Given the description of an element on the screen output the (x, y) to click on. 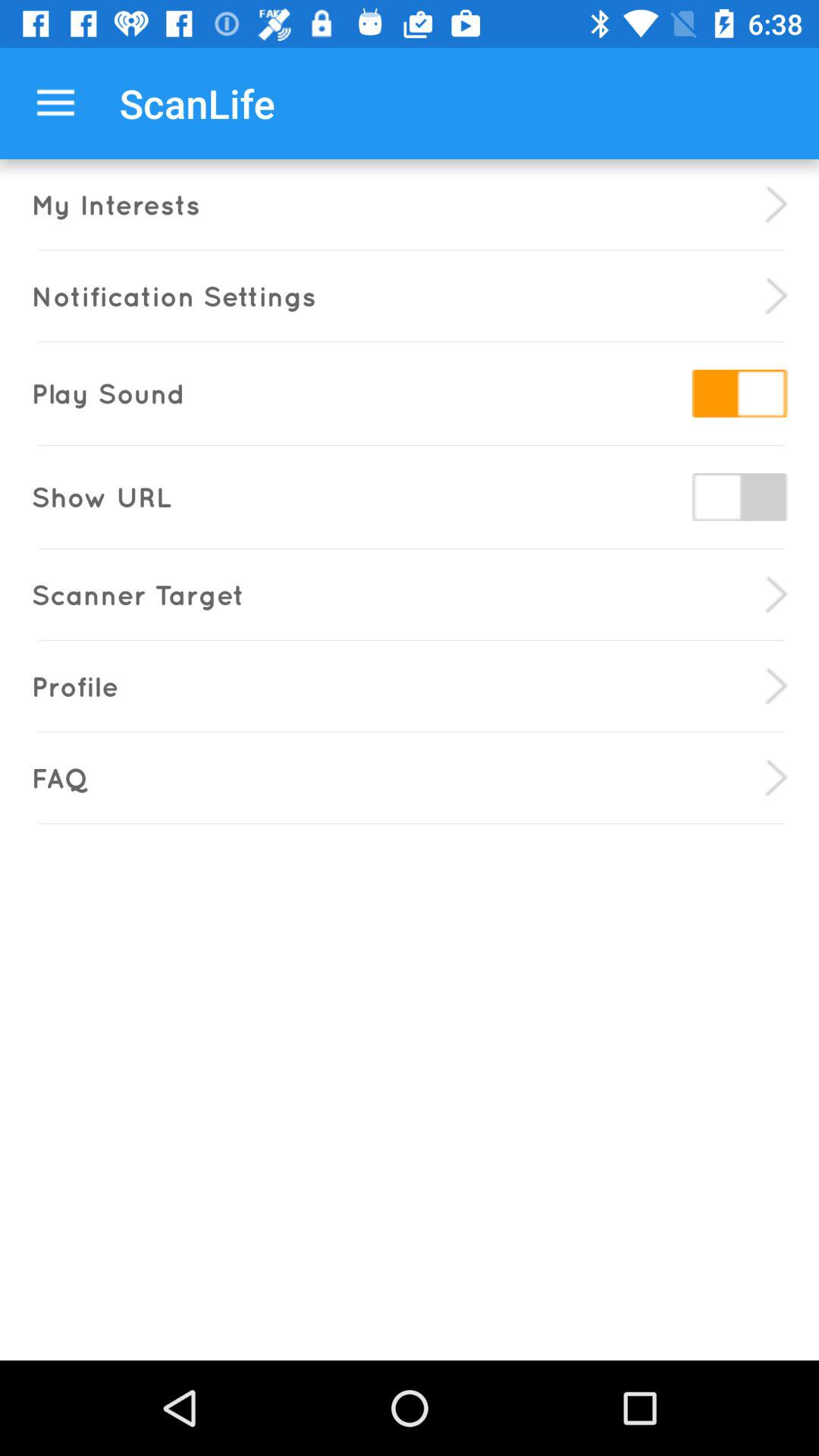
toggle show url (739, 496)
